Given the description of an element on the screen output the (x, y) to click on. 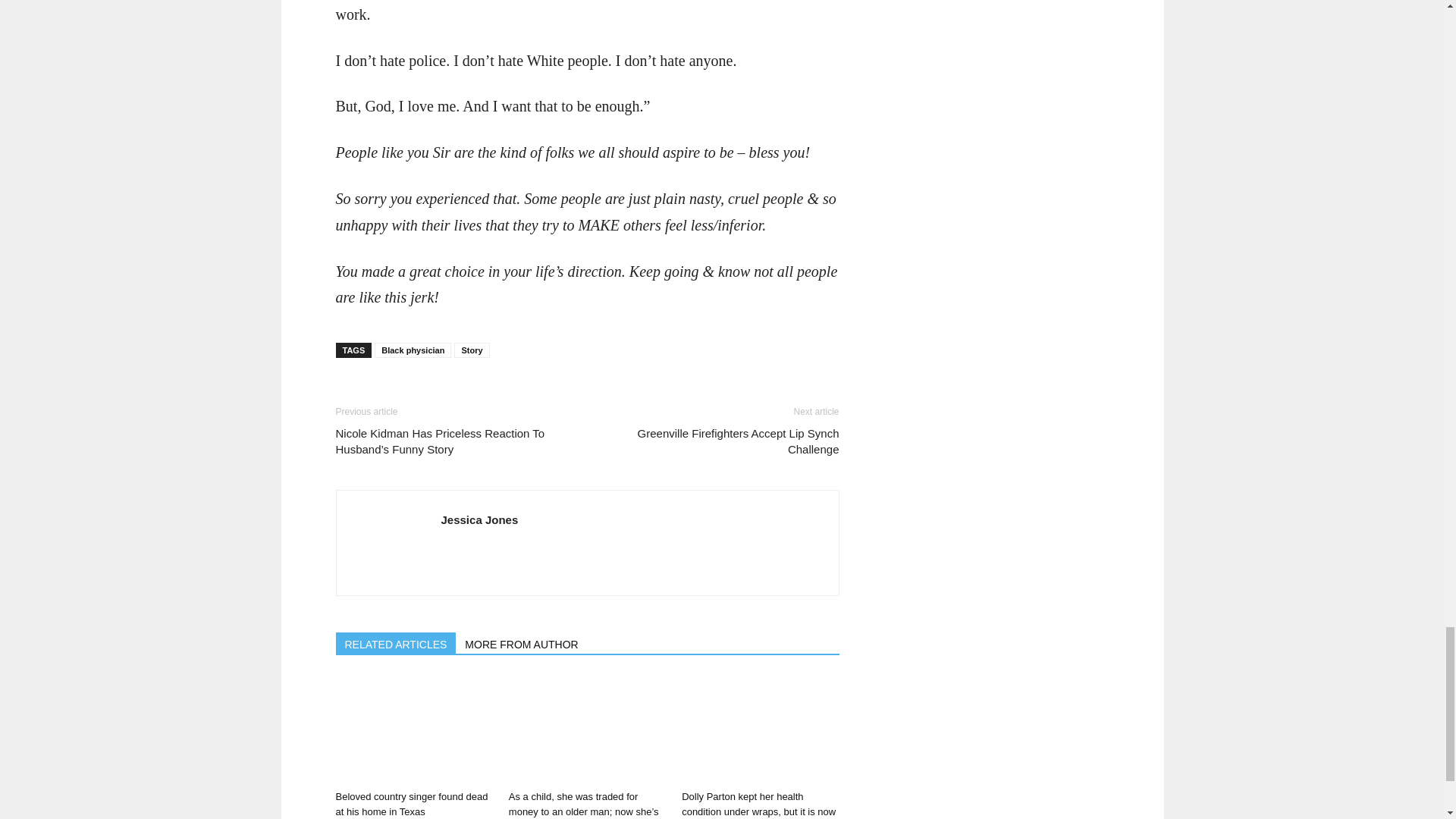
Beloved country singer found dead at his home in Texas (410, 804)
bottomFacebookLike (448, 391)
Beloved country singer found dead at his home in Texas (413, 729)
